Given the description of an element on the screen output the (x, y) to click on. 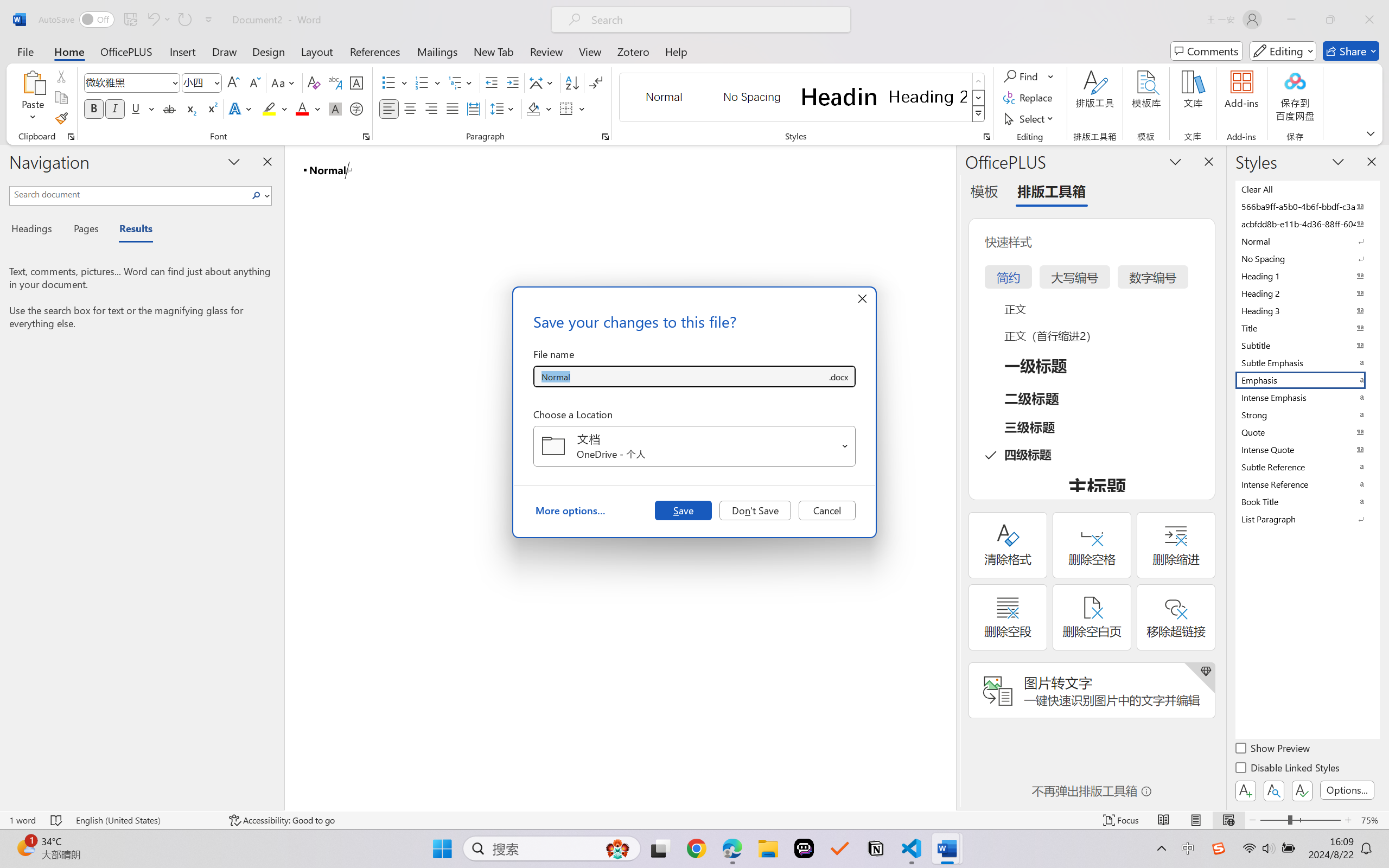
Class: NetUIScrollBar (948, 477)
Focus  (1121, 819)
Show Preview (1273, 749)
Underline (142, 108)
Accessibility Checker Accessibility: Good to go (282, 819)
566ba9ff-a5b0-4b6f-bbdf-c3ab41993fc2 (1306, 206)
References (375, 51)
Multilevel List (461, 82)
